Given the description of an element on the screen output the (x, y) to click on. 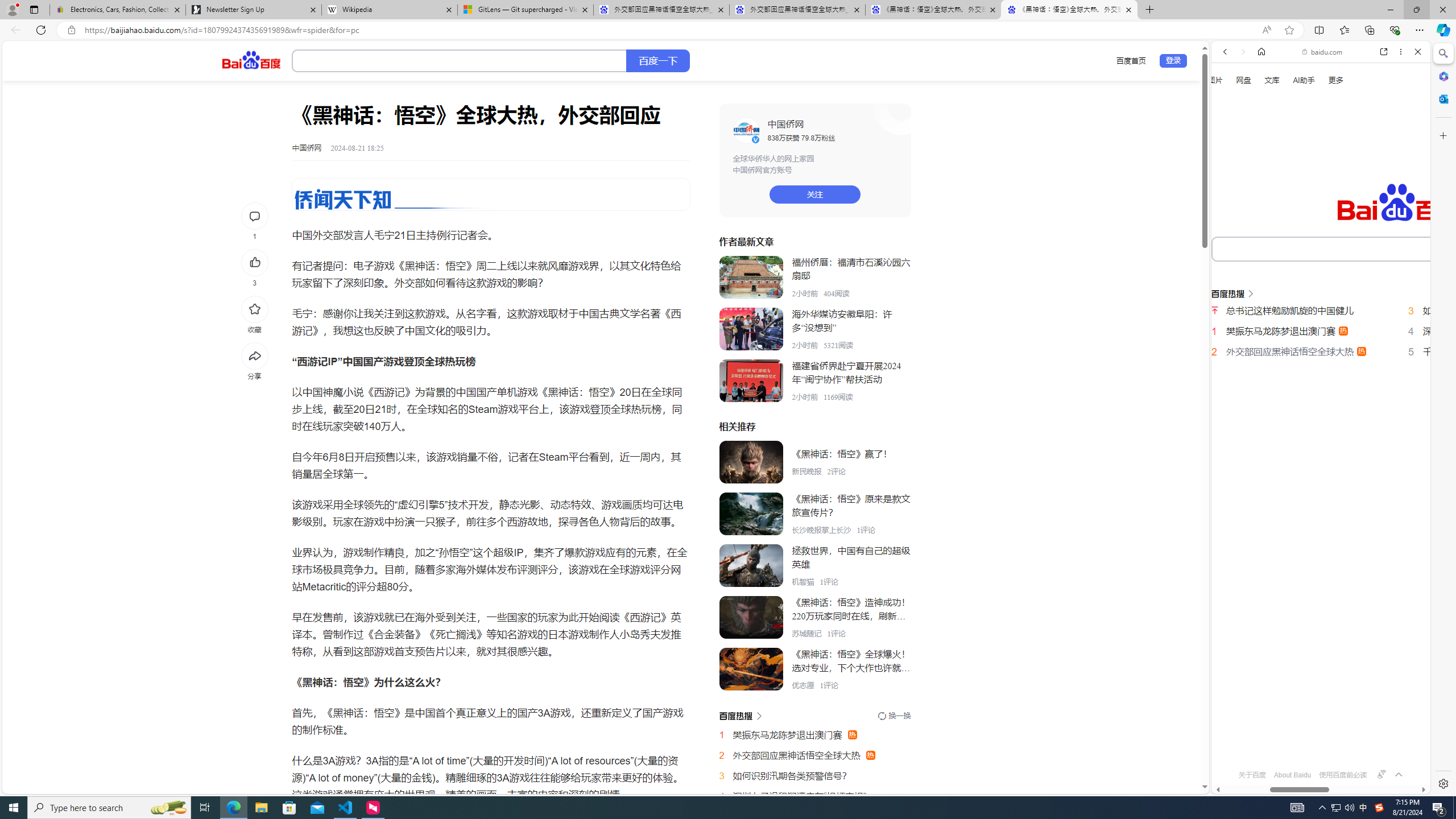
English (US) (1320, 329)
Search Filter, IMAGES (1262, 192)
Learn more (1264, 154)
